Given the description of an element on the screen output the (x, y) to click on. 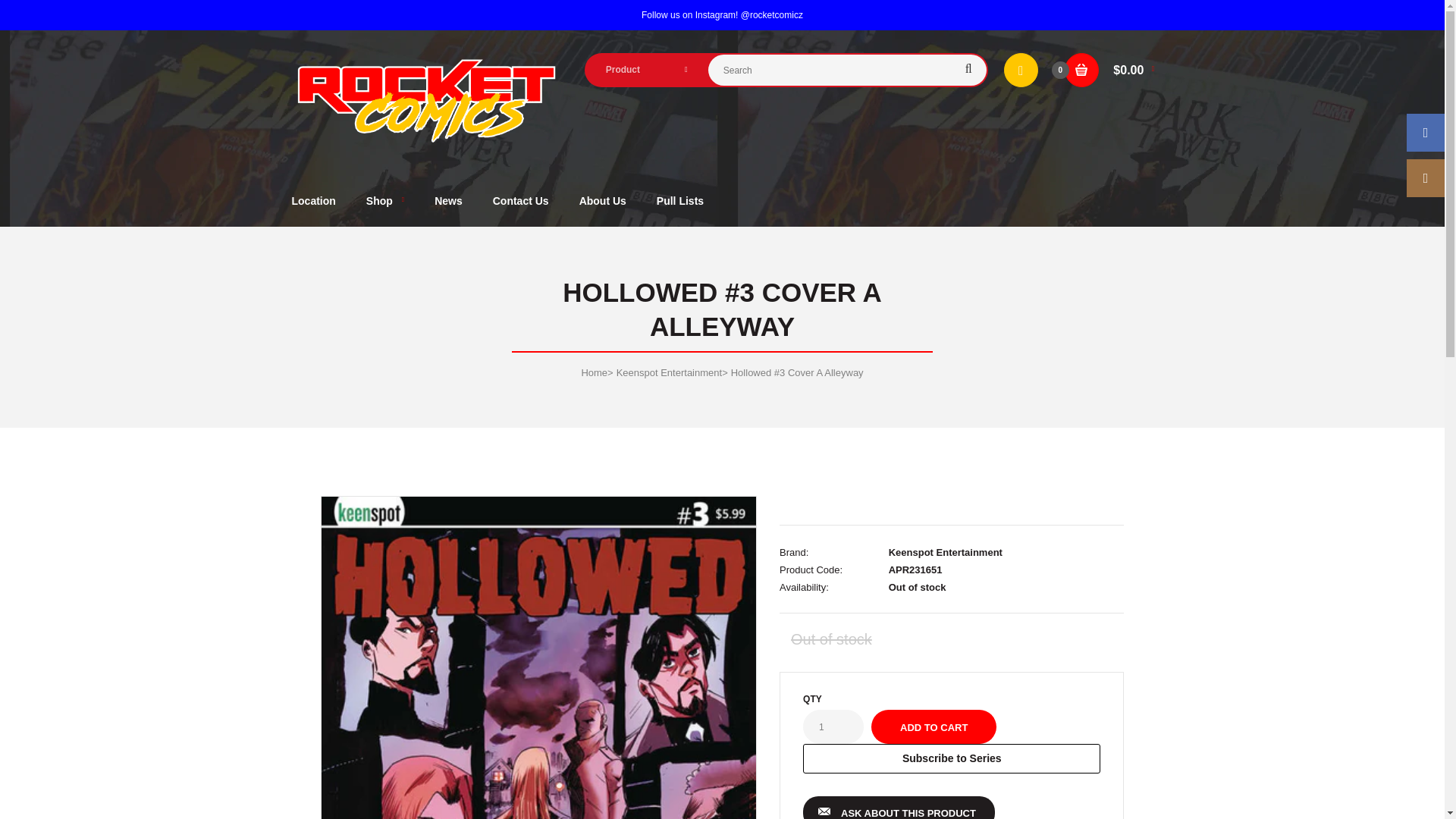
Keenspot Entertainment (668, 372)
Add to cart (932, 726)
1 (833, 726)
Keenspot Entertainment (945, 552)
Rocket Comics (425, 99)
Rocket Comics (425, 141)
